Given the description of an element on the screen output the (x, y) to click on. 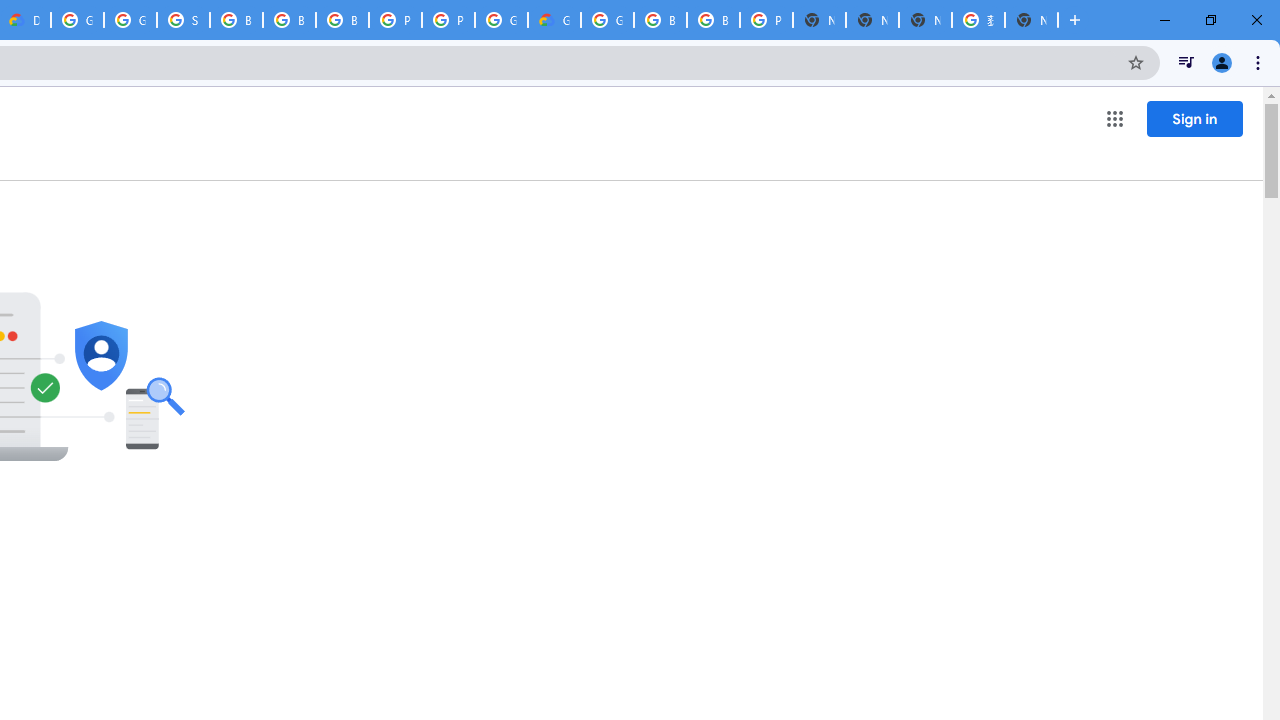
Google Cloud Estimate Summary (554, 20)
You (1221, 62)
Google Cloud Platform (501, 20)
Bookmark this tab (1135, 62)
Chrome (1260, 62)
Browse Chrome as a guest - Computer - Google Chrome Help (660, 20)
Browse Chrome as a guest - Computer - Google Chrome Help (289, 20)
Sign in (1194, 118)
Control your music, videos, and more (1185, 62)
New Tab (1075, 20)
New Tab (1031, 20)
Sign in - Google Accounts (183, 20)
